Given the description of an element on the screen output the (x, y) to click on. 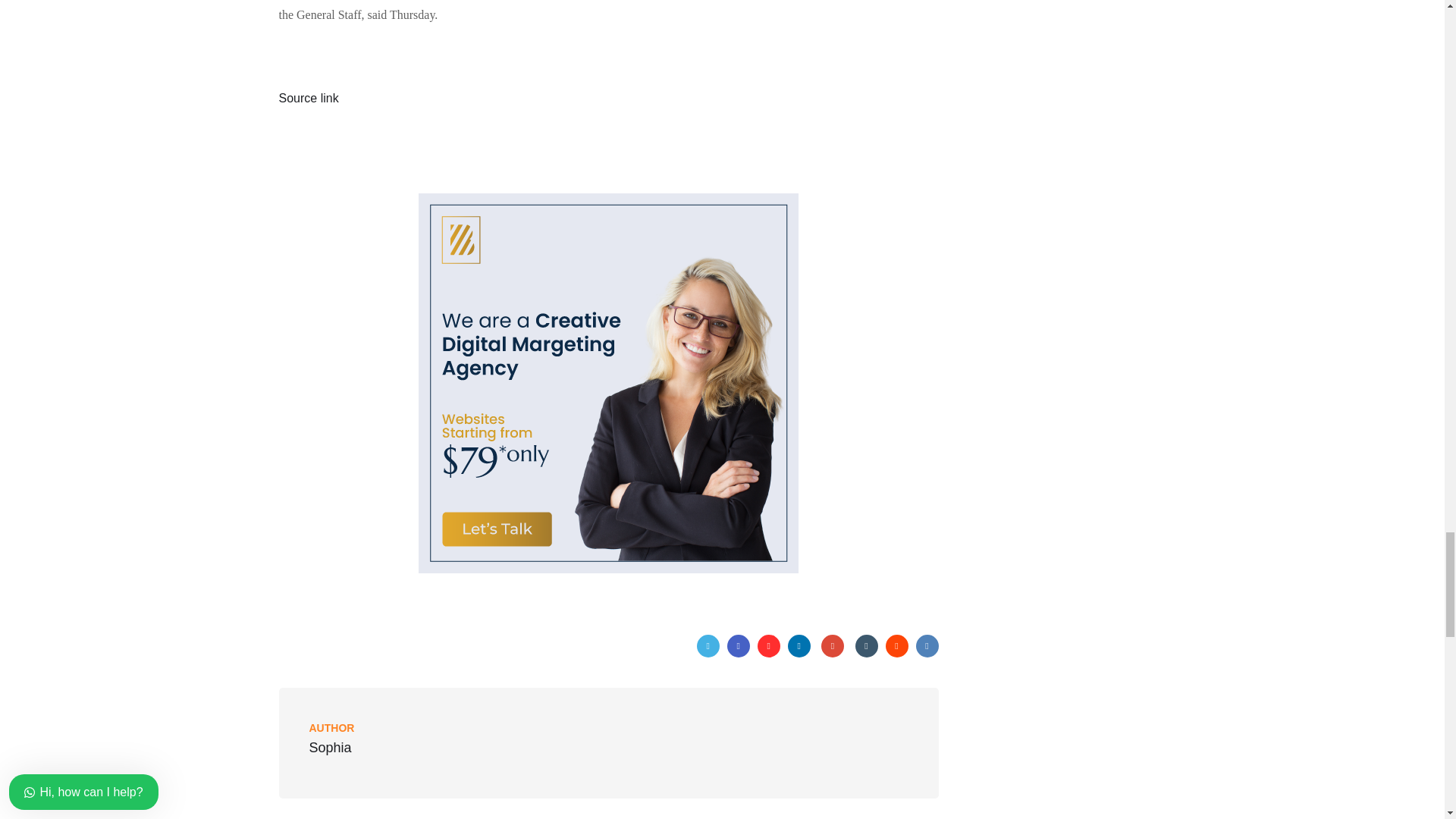
Reddit (896, 645)
Pinterest (768, 645)
Tumblr (866, 645)
Twitter (708, 645)
LinkedIn (798, 645)
VK (927, 645)
Facebook (737, 645)
Google Plus (832, 645)
